Given the description of an element on the screen output the (x, y) to click on. 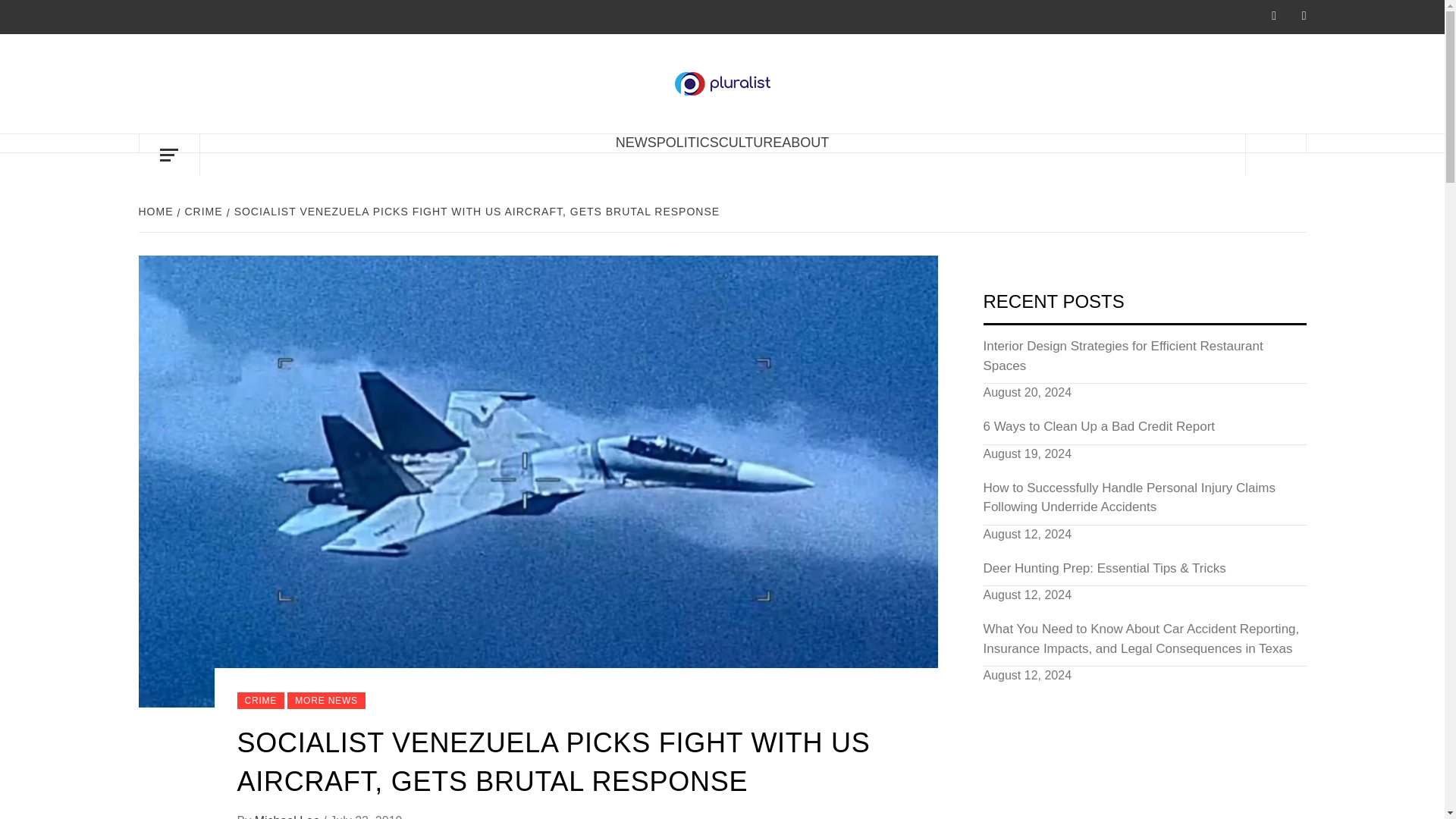
POLITICS (687, 142)
MORE NEWS (325, 700)
HOME (157, 211)
CRIME (202, 211)
PLURALIST (872, 95)
Michael Lee (288, 816)
CRIME (259, 700)
ABOUT (804, 142)
CULTURE (751, 142)
